Given the description of an element on the screen output the (x, y) to click on. 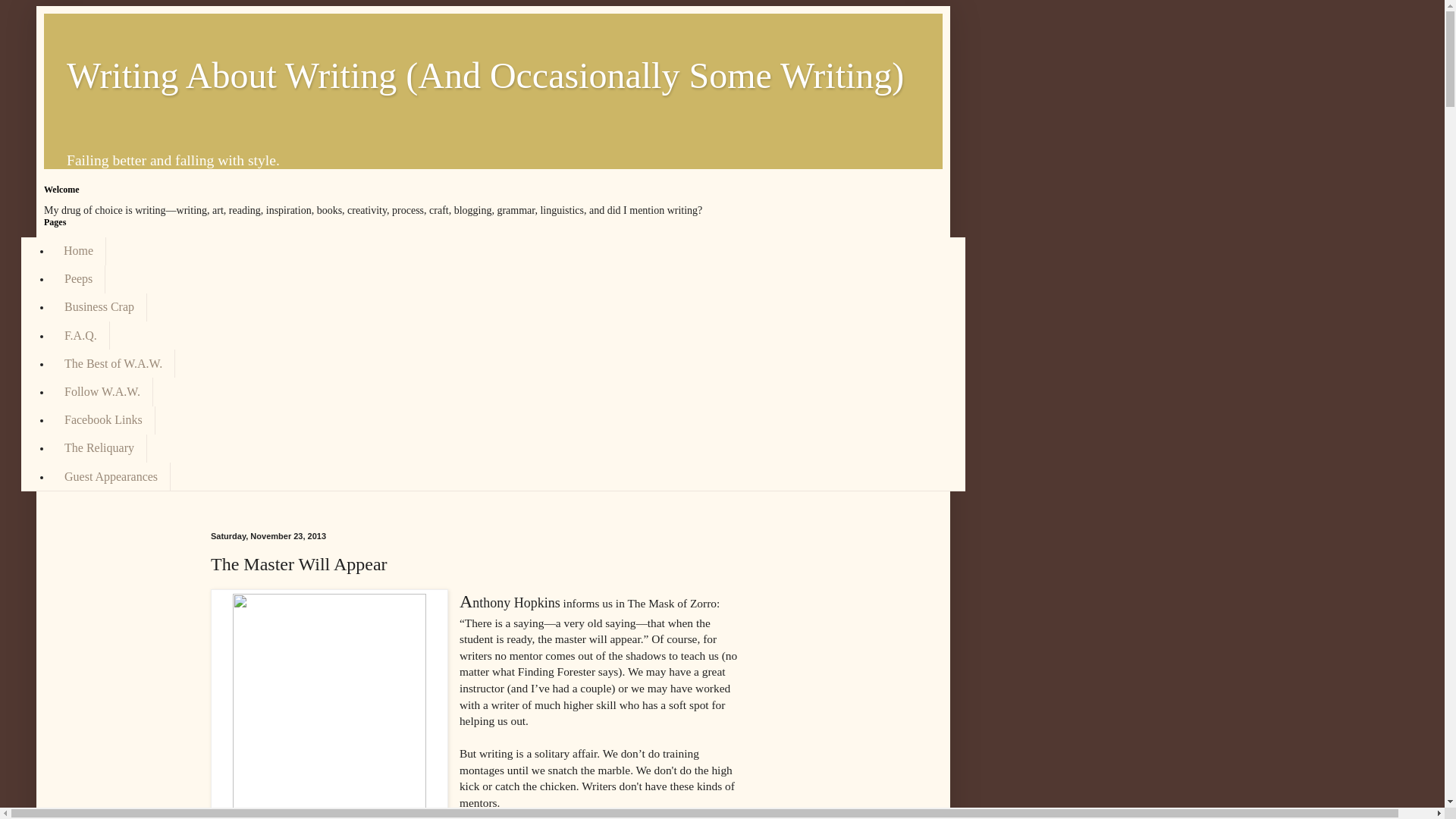
The Best of W.A.W. (112, 363)
F.A.Q. (80, 335)
Peeps (77, 279)
Business Crap (98, 307)
The Reliquary (98, 448)
Follow W.A.W. (101, 391)
Facebook Links (102, 420)
Home (78, 250)
Guest Appearances (110, 476)
